Given the description of an element on the screen output the (x, y) to click on. 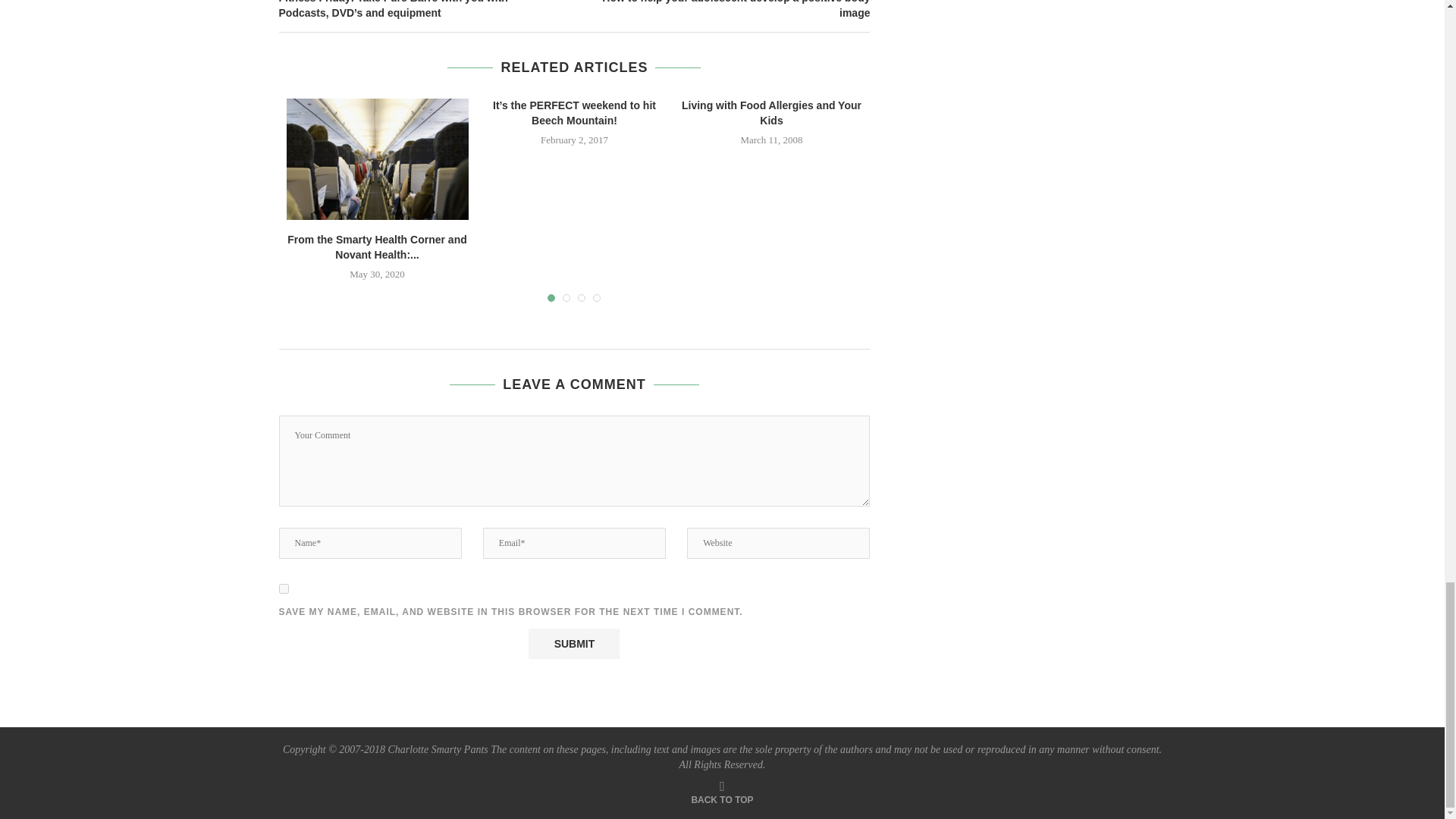
yes (283, 588)
Submit (574, 643)
